Given the description of an element on the screen output the (x, y) to click on. 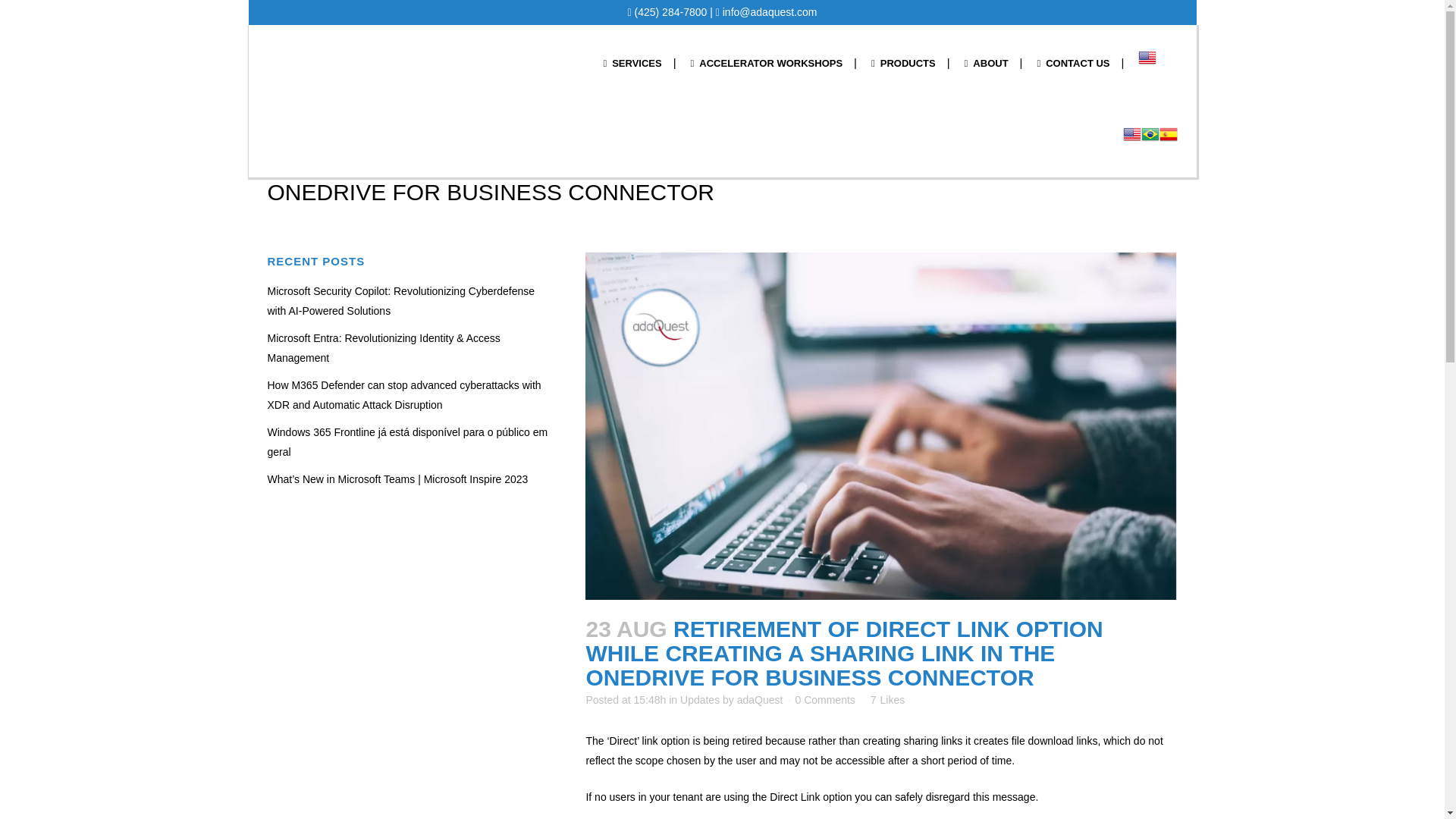
PRODUCTS (904, 63)
ABOUT (987, 63)
ACCELERATOR WORKSHOPS (767, 63)
Like this (887, 699)
SERVICES (631, 63)
